Given the description of an element on the screen output the (x, y) to click on. 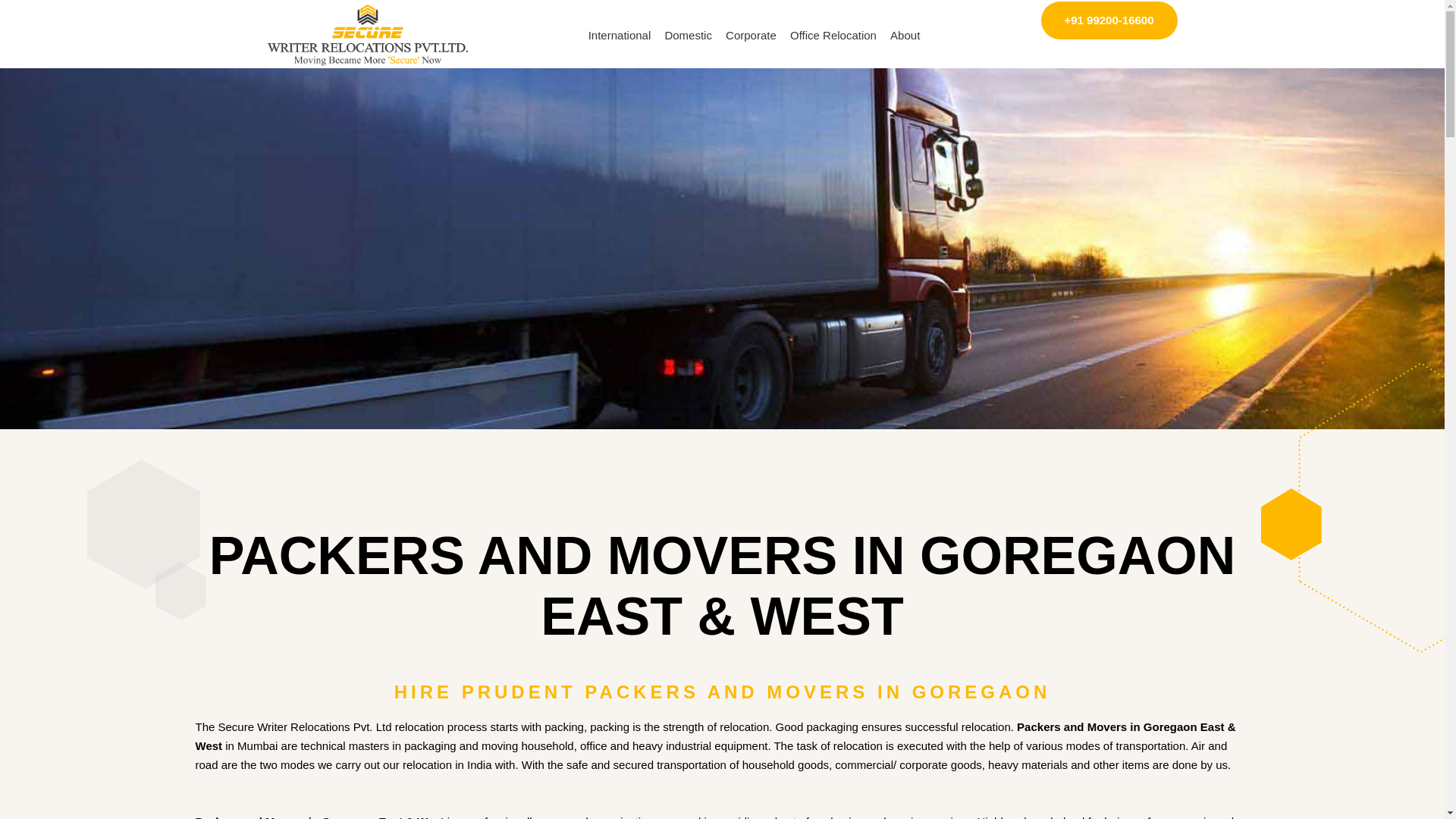
Domestic (687, 35)
Corporate (750, 35)
Office Relocation (833, 35)
About (904, 35)
International (619, 35)
